Given the description of an element on the screen output the (x, y) to click on. 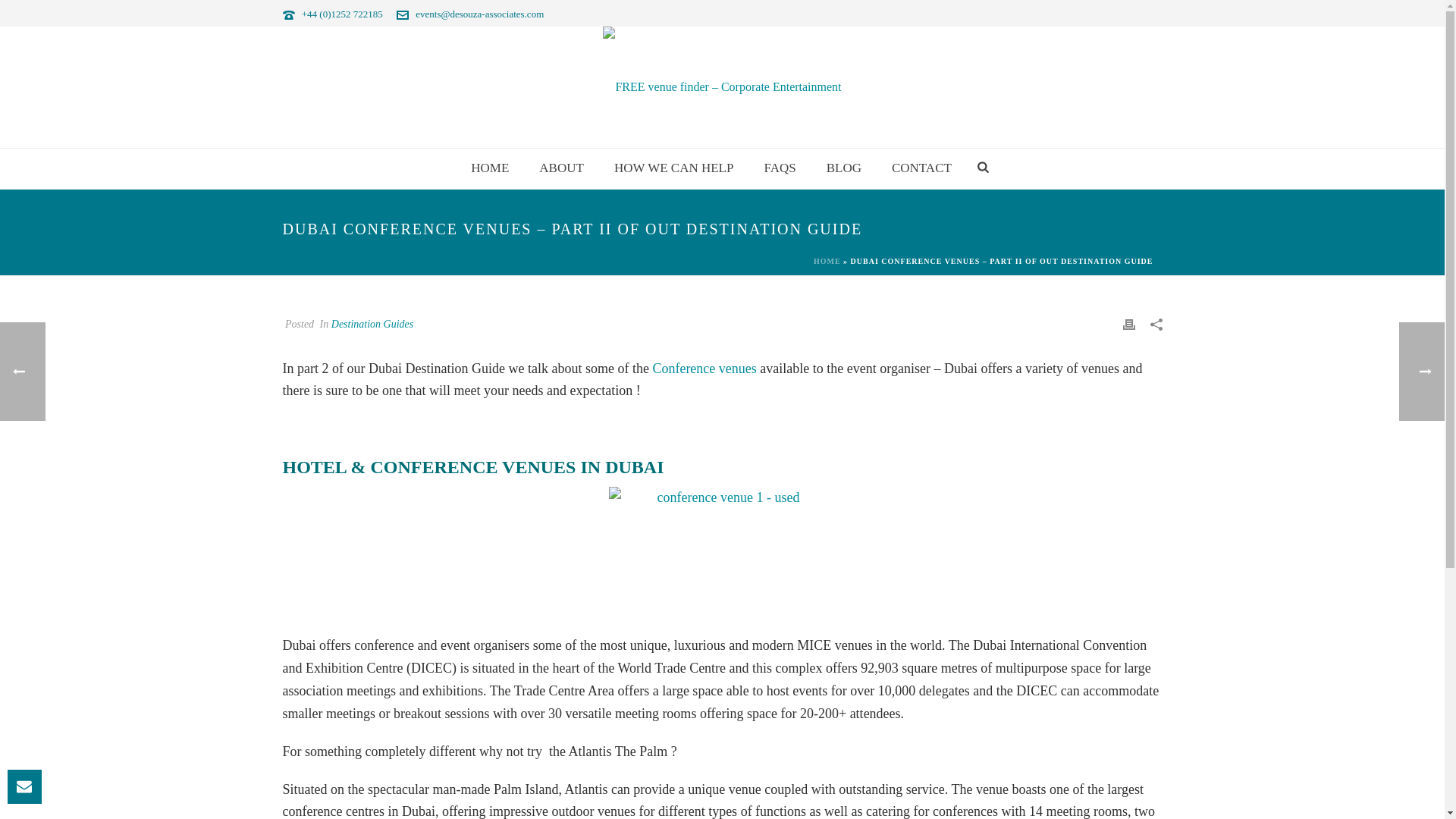
HOME (489, 168)
ABOUT (561, 168)
FAQS (779, 168)
ABOUT (561, 168)
BLOG (843, 168)
CONTACT (921, 168)
FAQS (779, 168)
Desouza Associates (721, 87)
HOW WE CAN HELP (673, 168)
BLOG (843, 168)
CONTACT (921, 168)
HOME (489, 168)
HOW WE CAN HELP (673, 168)
Print (1128, 323)
